Given the description of an element on the screen output the (x, y) to click on. 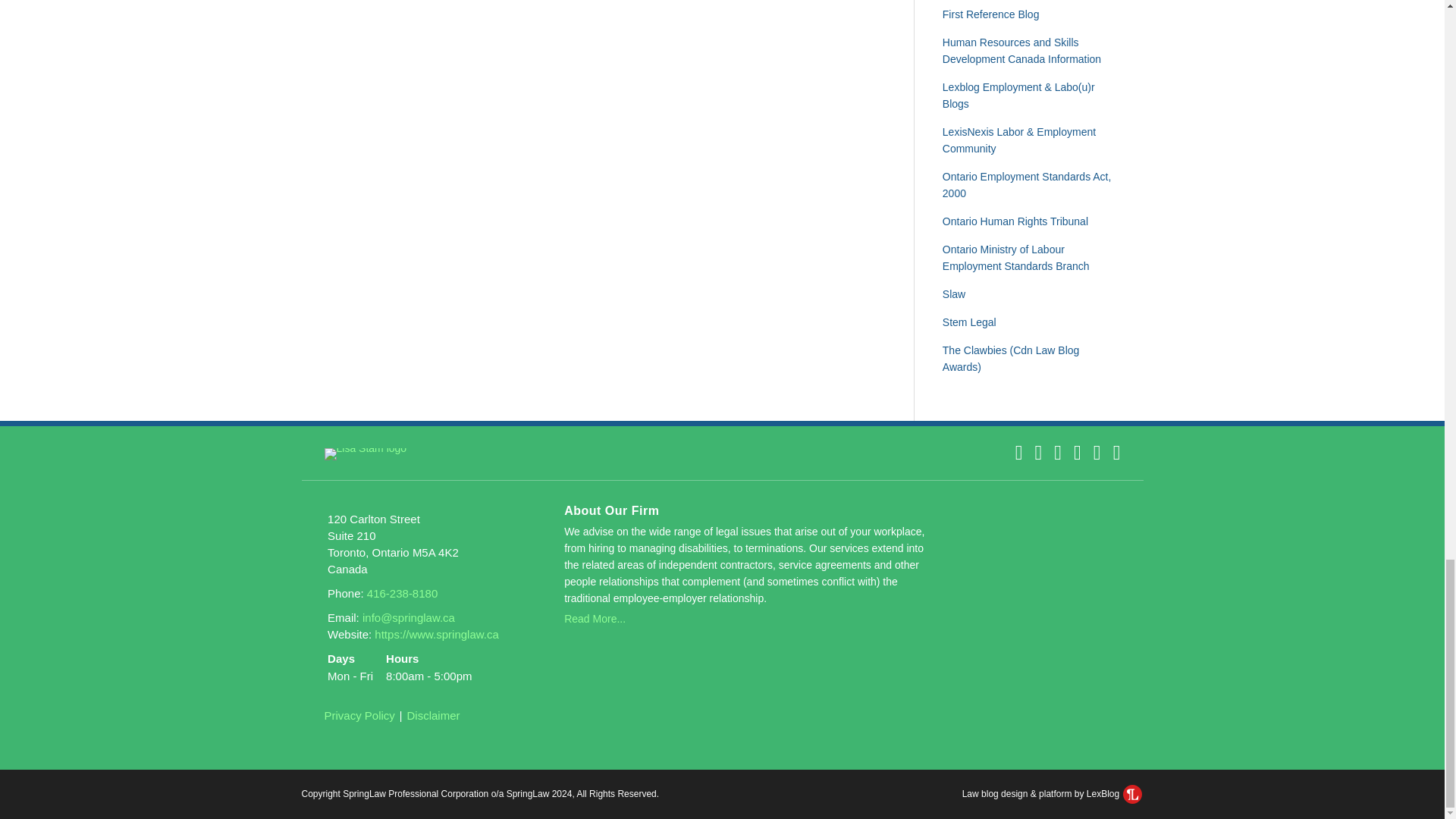
ontario-ministry-of-labour-employment-standards-branch (1015, 257)
slaw (953, 294)
lexisnexis-labor-employment-community (1019, 140)
first-reference-blog (990, 14)
LexBlog Logo (1131, 793)
human-resources-and-skills-development-canada-information (1021, 50)
ontario-human-rights-tribunal (1014, 221)
stem-legal (968, 322)
ontario-employment-standards-act-2000 (1027, 184)
lexblog-employment-labour-blogs (1018, 95)
the-clawbies-cdn-law-blog-awards (1011, 358)
